Given the description of an element on the screen output the (x, y) to click on. 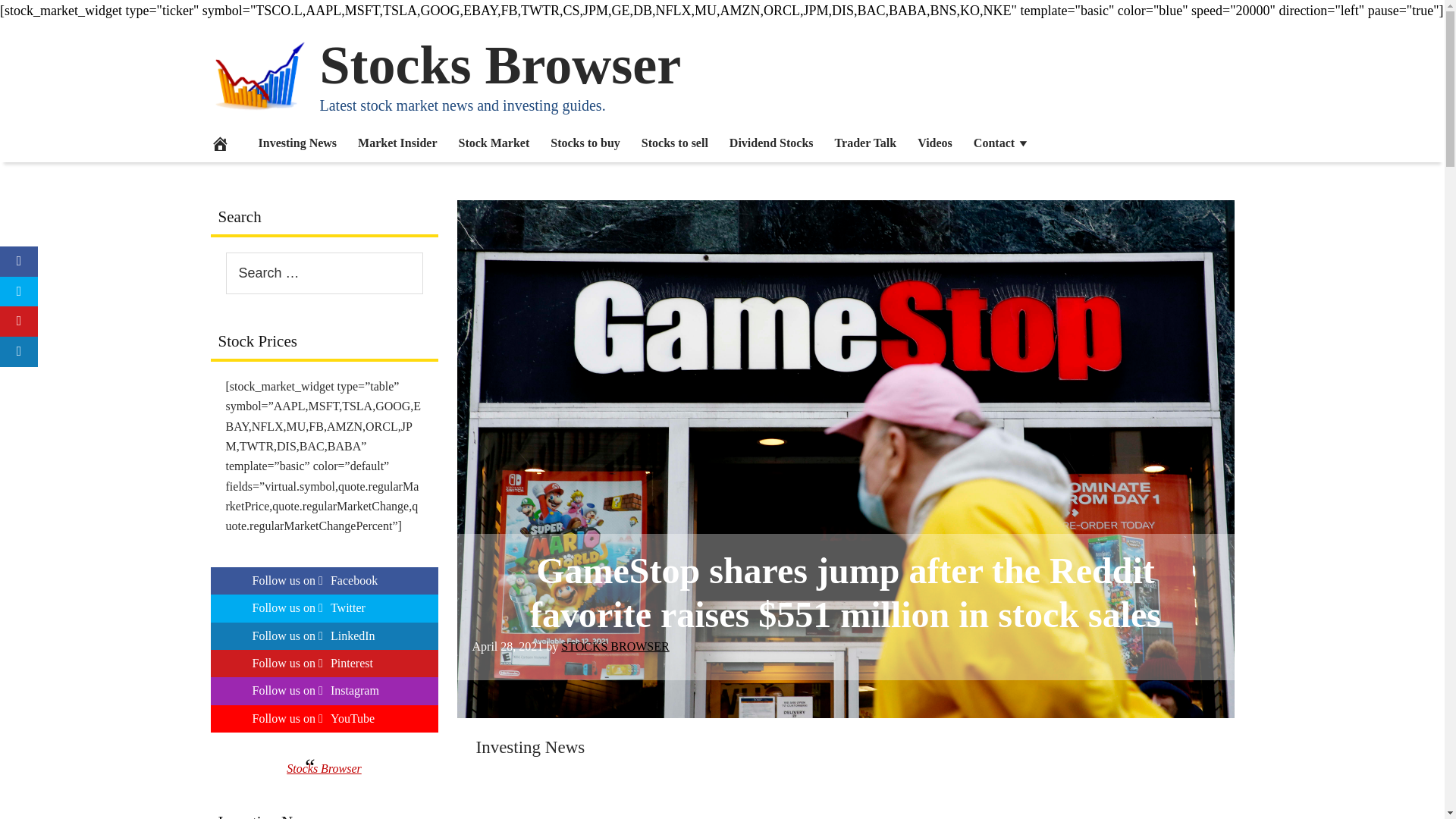
Investing News (530, 746)
Stocks to sell (674, 143)
STOCKS BROWSER (614, 645)
Investing News (530, 746)
Contact (1001, 143)
Stock Market (493, 143)
Dividend Stocks (771, 143)
Stocks Browser (500, 65)
